Given the description of an element on the screen output the (x, y) to click on. 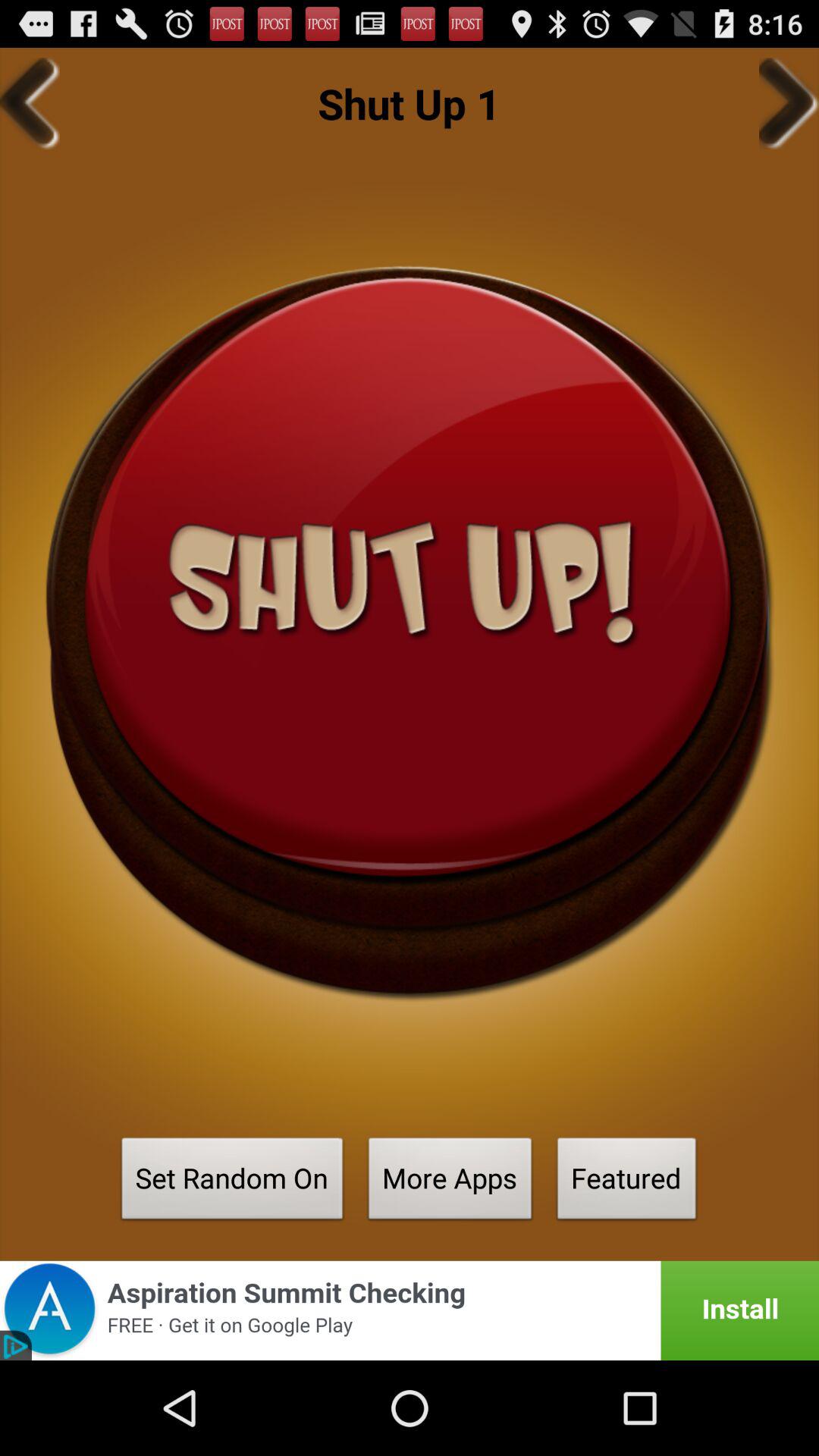
jump to the more apps button (450, 1182)
